Given the description of an element on the screen output the (x, y) to click on. 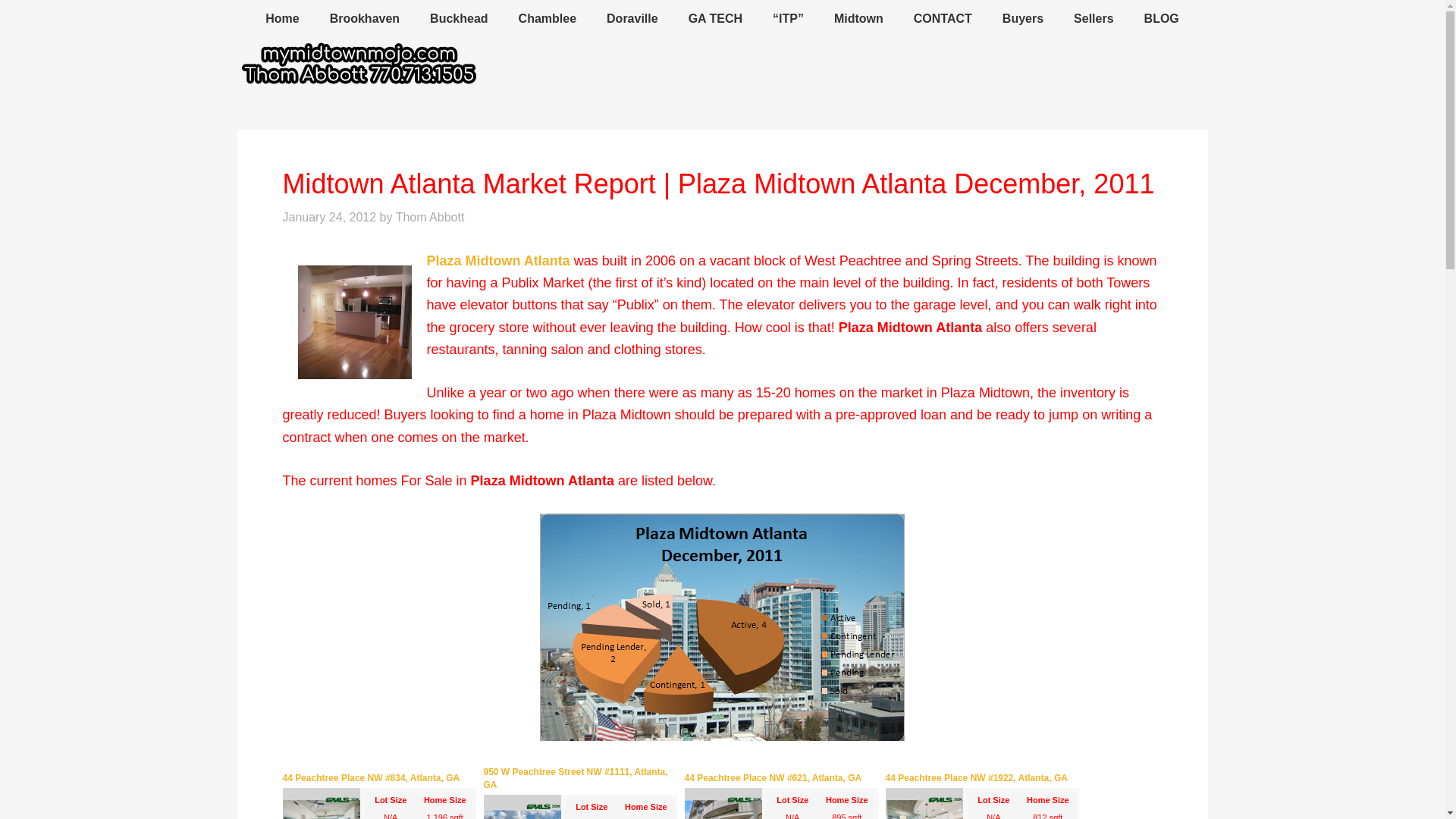
Doraville (631, 19)
About Chamblee (547, 19)
Buckhead (458, 19)
GA TECH (714, 19)
About Doraville (631, 19)
Chamblee (547, 19)
About Georgia Tech (714, 19)
Home (282, 19)
About Buckhead Atlanta (458, 19)
Brookhaven (364, 19)
